Given the description of an element on the screen output the (x, y) to click on. 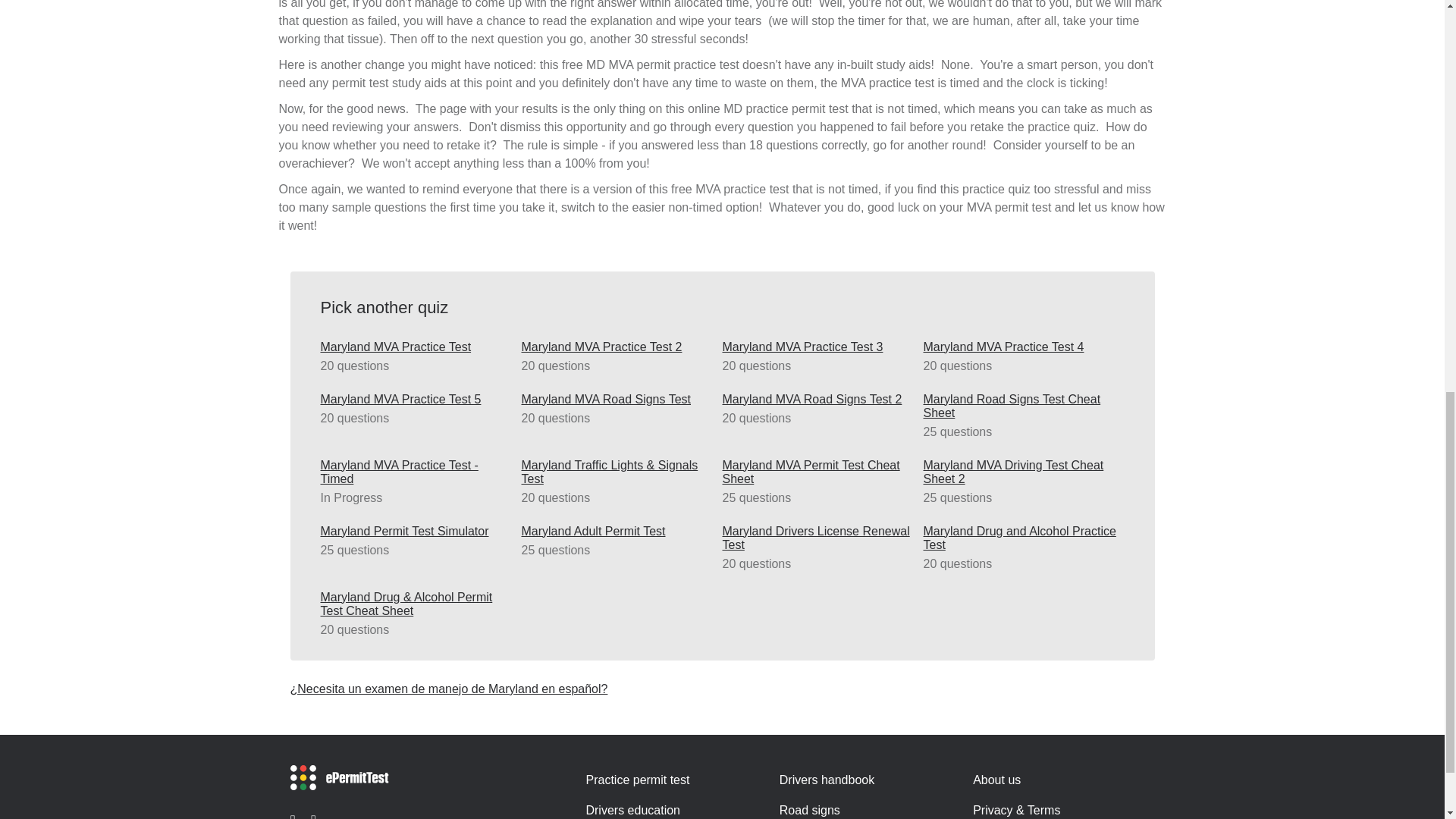
Maryland MVA Road Signs Test 2 (818, 399)
Maryland Road Signs Test Cheat Sheet (1019, 406)
Maryland MVA Road Signs Test (617, 399)
Maryland MVA Practice Test 5 (416, 399)
Maryland Adult Permit Test (617, 531)
Maryland Permit Test Simulator (416, 531)
Maryland Drug and Alcohol Practice Test (1019, 538)
Maryland Road Signs Test Cheat Sheet (1019, 406)
Maryland Drivers License Renewal Test (818, 538)
Maryland MVA Practice Test (416, 346)
Maryland MVA Road Signs Test (617, 399)
Maryland MVA Practice Test 3 (818, 346)
Maryland MVA Practice Test 2 (617, 346)
Maryland MVA Practice Test - Timed (416, 472)
Maryland MVA Practice Test 4 (1019, 346)
